Given the description of an element on the screen output the (x, y) to click on. 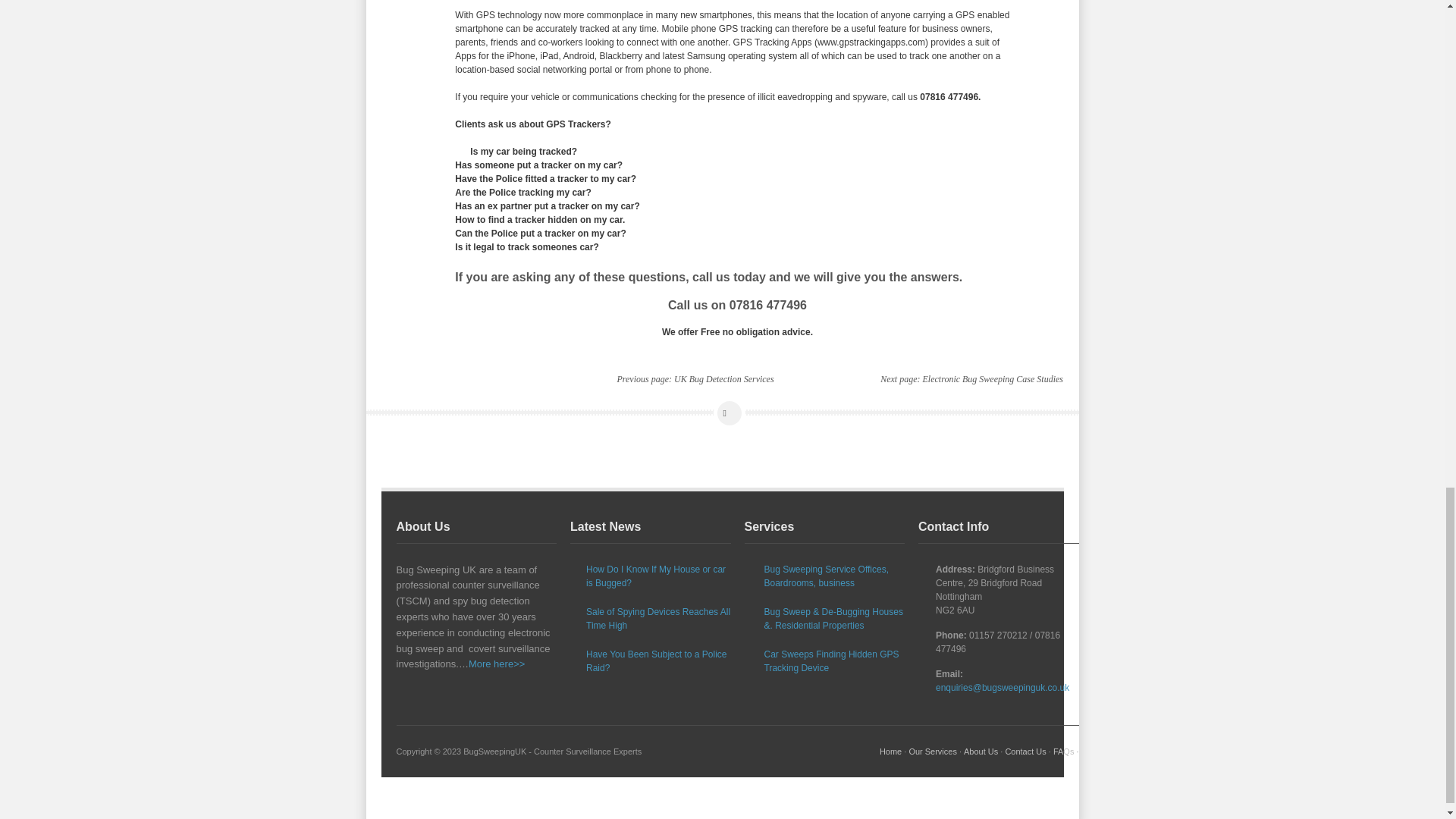
Sale of Spying Devices Reaches All Time High (658, 618)
How Do I Know If My House or car is Bugged? (658, 575)
Have You Been Subject to a Police Raid? (658, 660)
